Given the description of an element on the screen output the (x, y) to click on. 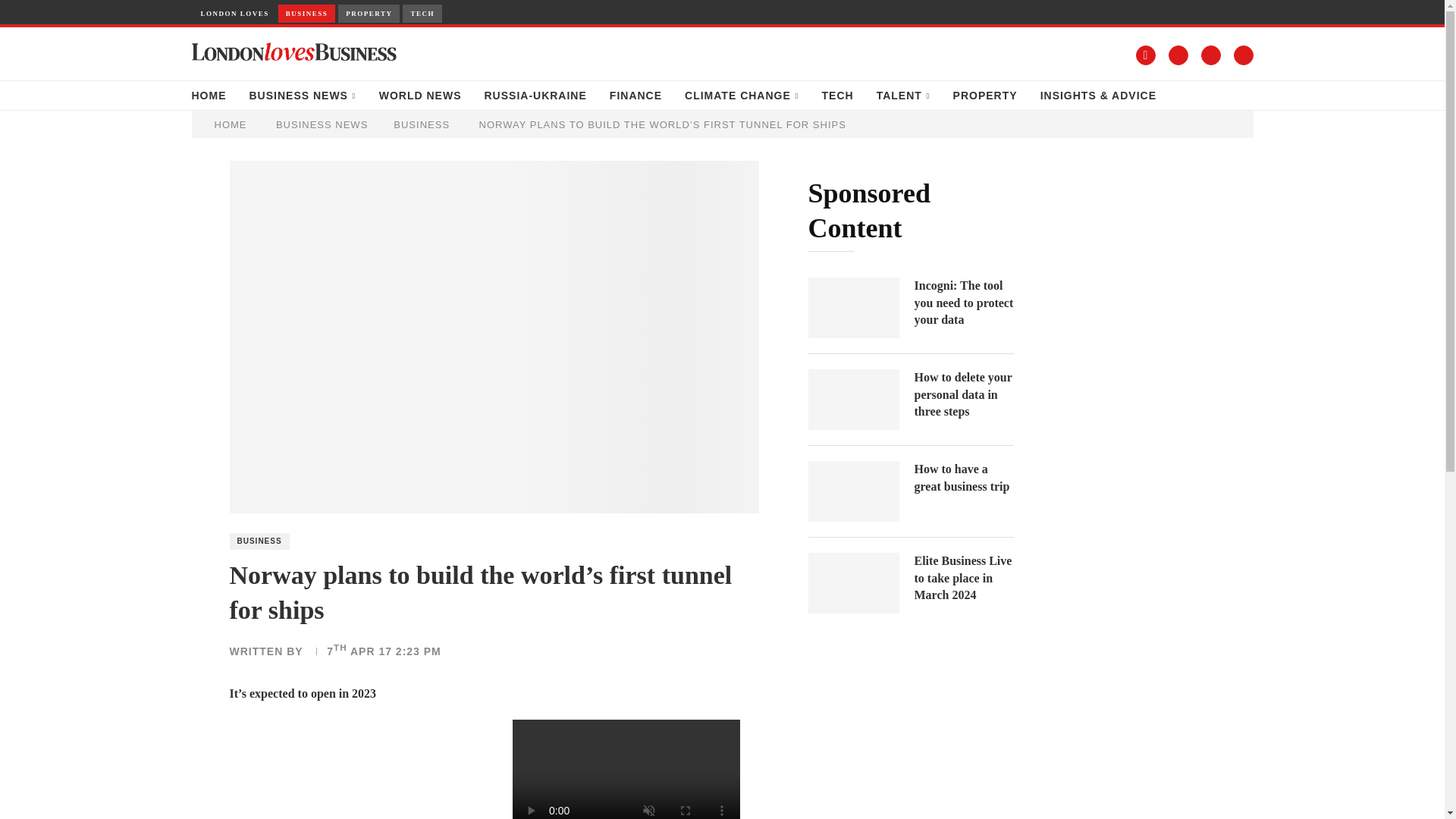
How to delete your personal data in three steps (963, 394)
Elite Business Live to take place in March 2024 (963, 577)
Elite Business Live to take place in March 2024 (853, 582)
How to have a great business trip (853, 491)
Incogni: The tool you need to protect your data (853, 307)
Incogni: The tool you need to protect your data (963, 302)
How to delete your personal data in three steps (853, 399)
How to have a great business trip (963, 478)
